Given the description of an element on the screen output the (x, y) to click on. 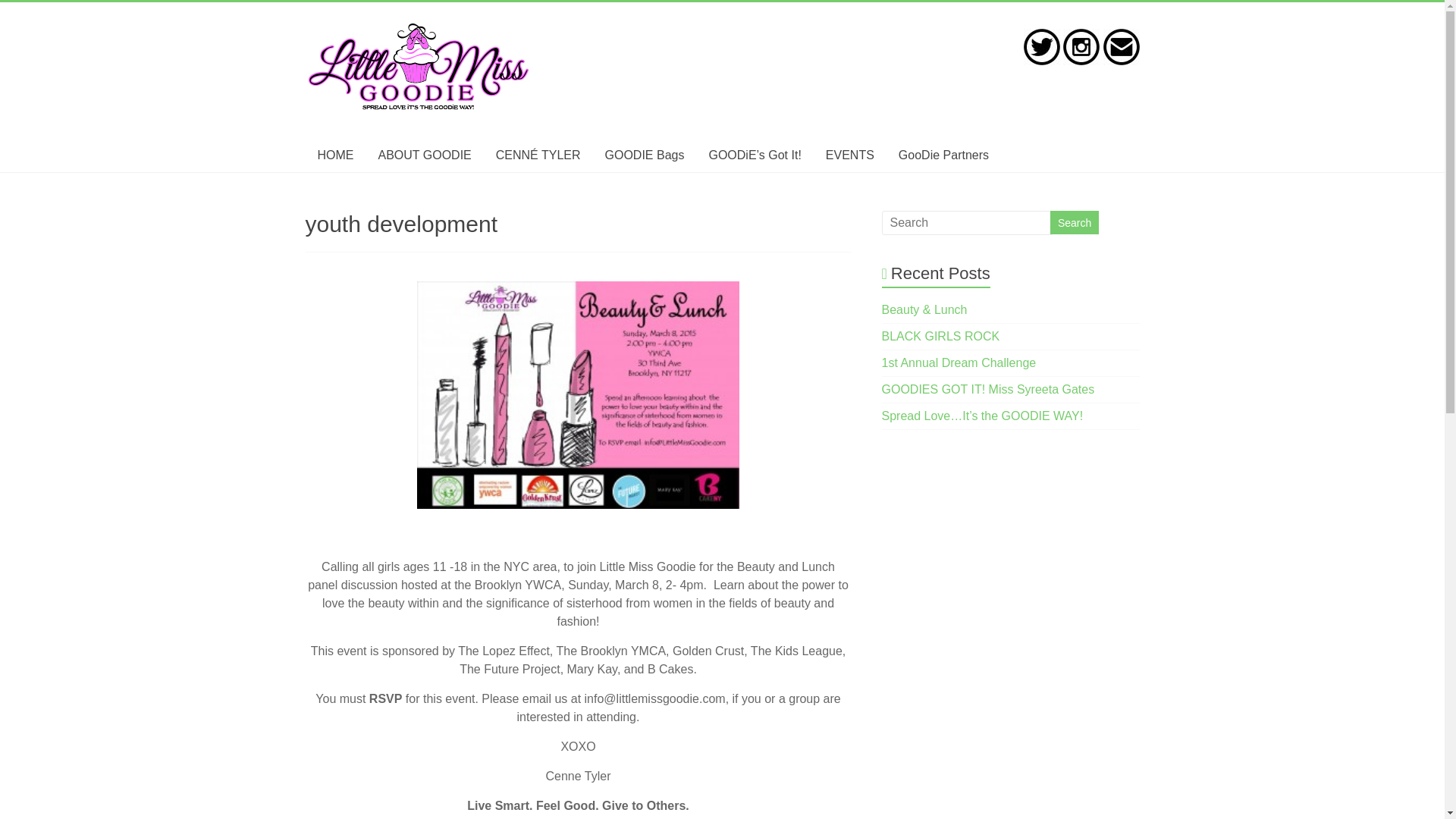
GooDie Partners (943, 154)
Email (1120, 46)
GOODIE Bags (644, 154)
instagram (1080, 46)
1st Annual Dream Challenge (959, 362)
HOME (334, 154)
ABOUT GOODIE (424, 154)
BLACK GIRLS ROCK (941, 336)
GOODIES GOT IT! Miss Syreeta Gates (988, 389)
Twitter (1041, 46)
